Given the description of an element on the screen output the (x, y) to click on. 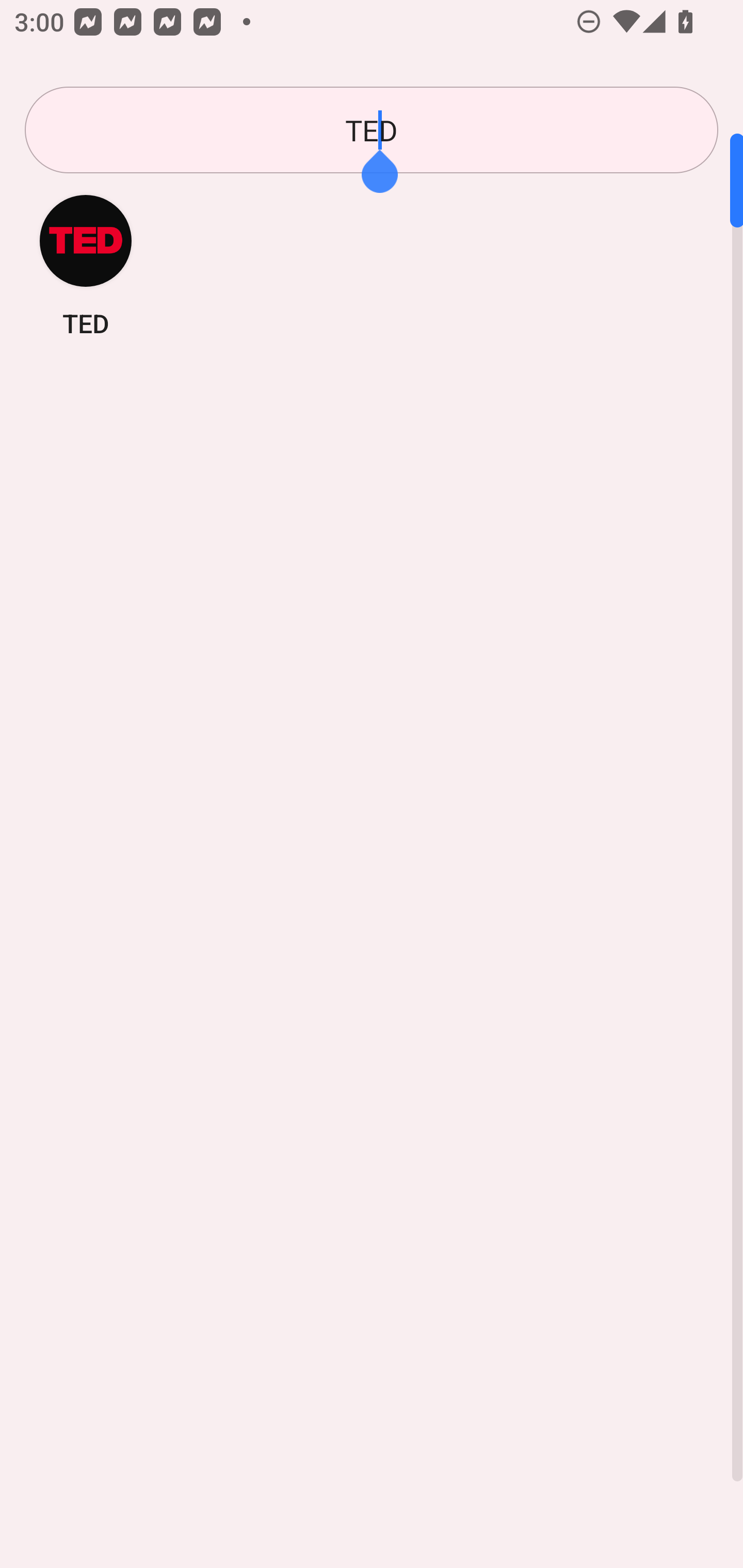
TED (371, 130)
TED (85, 264)
